Given the description of an element on the screen output the (x, y) to click on. 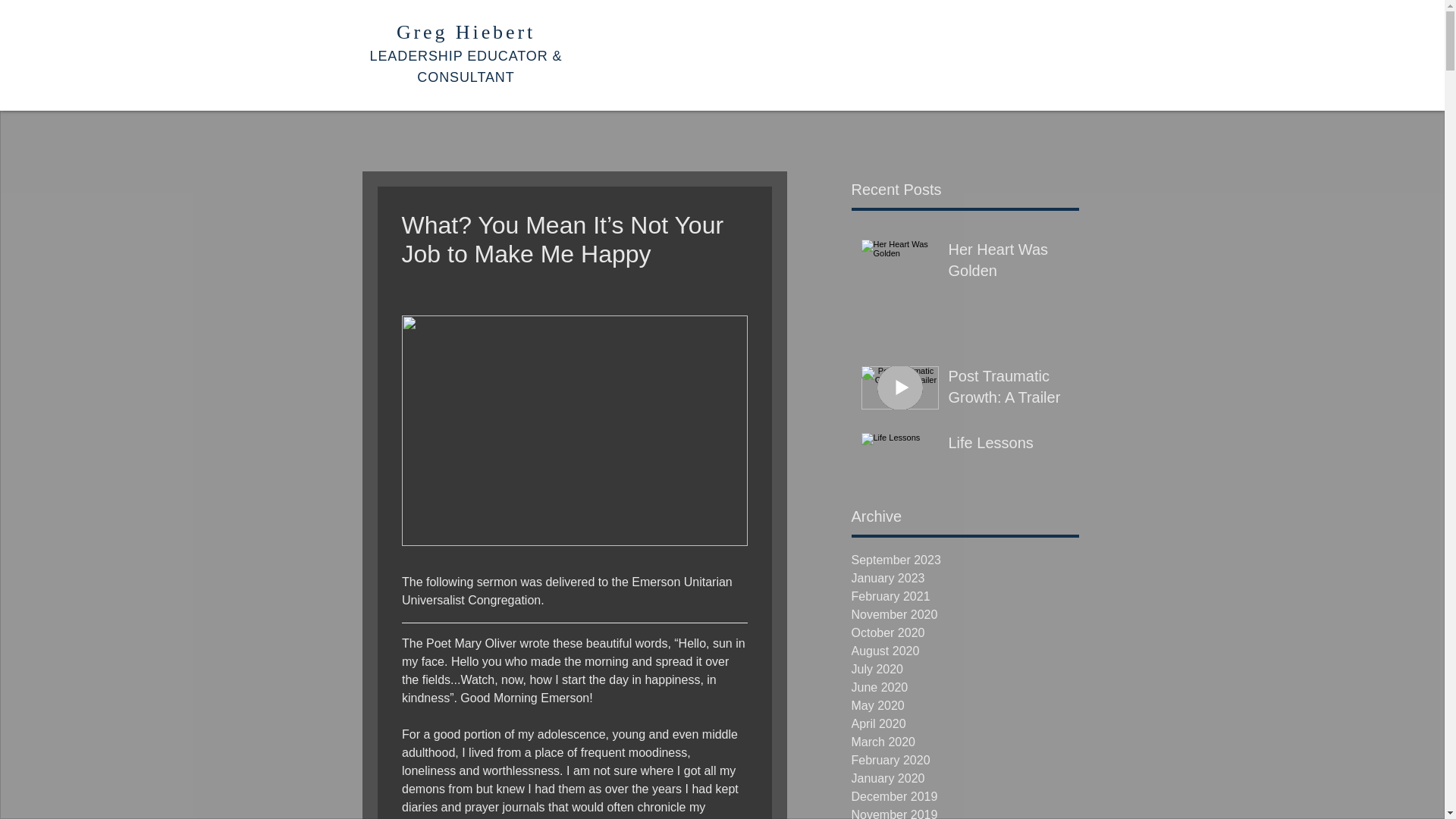
December 2019 (964, 796)
January 2023 (964, 578)
May 2020 (964, 705)
November 2019 (964, 812)
August 2020 (964, 651)
November 2020 (964, 615)
September 2023 (964, 560)
April 2020 (964, 723)
Her Heart Was Golden (1007, 263)
June 2020 (964, 687)
